Given the description of an element on the screen output the (x, y) to click on. 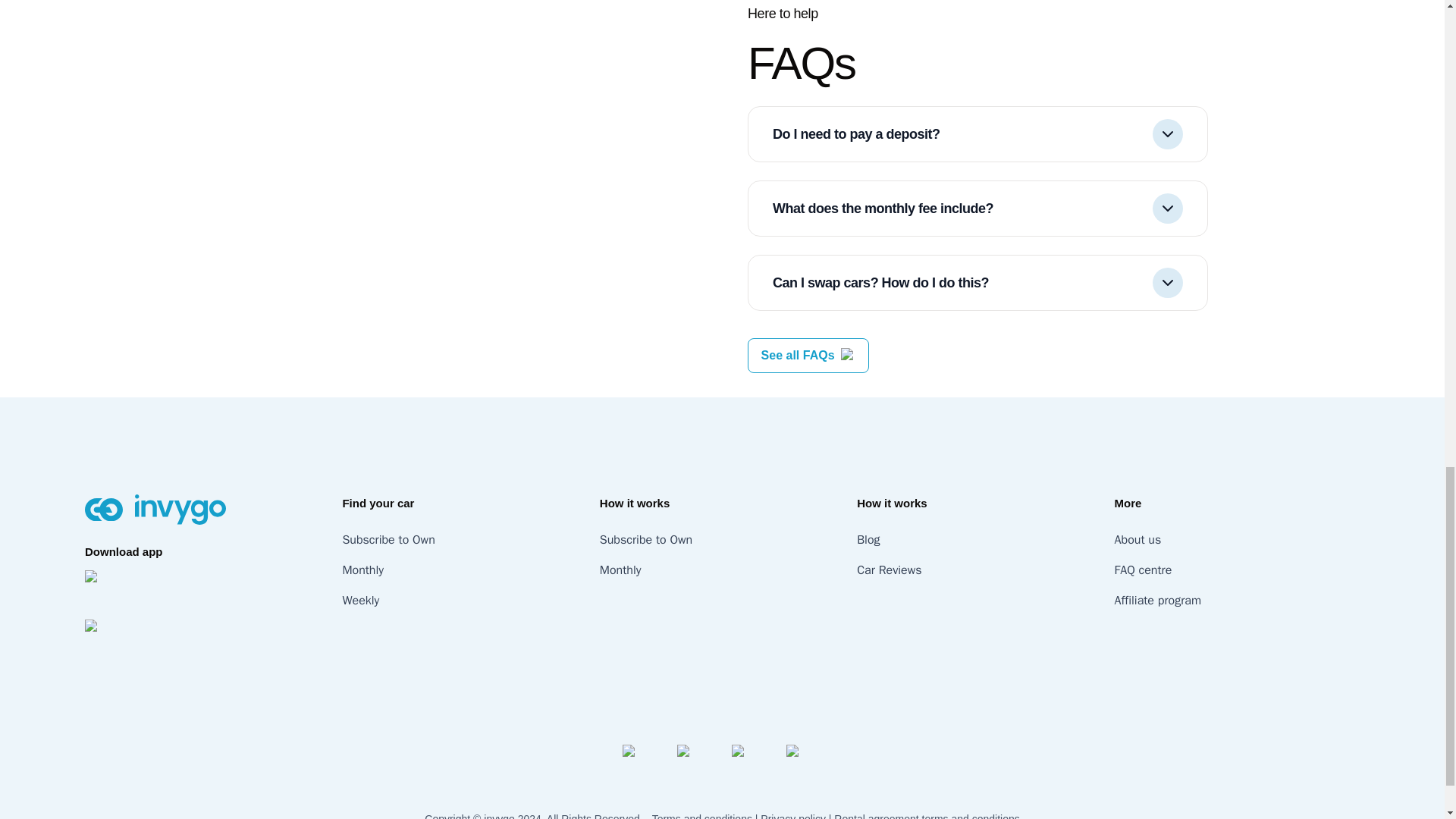
Monthly (363, 570)
FAQ centre (1143, 570)
See all FAQs (797, 355)
Do I need to pay a deposit? (977, 134)
Car Reviews (889, 570)
Subscribe to Own (387, 539)
Can I swap cars? How do I do this? (977, 282)
Affiliate program (1158, 600)
Blog (868, 539)
Subscribe to Own (646, 539)
